Given the description of an element on the screen output the (x, y) to click on. 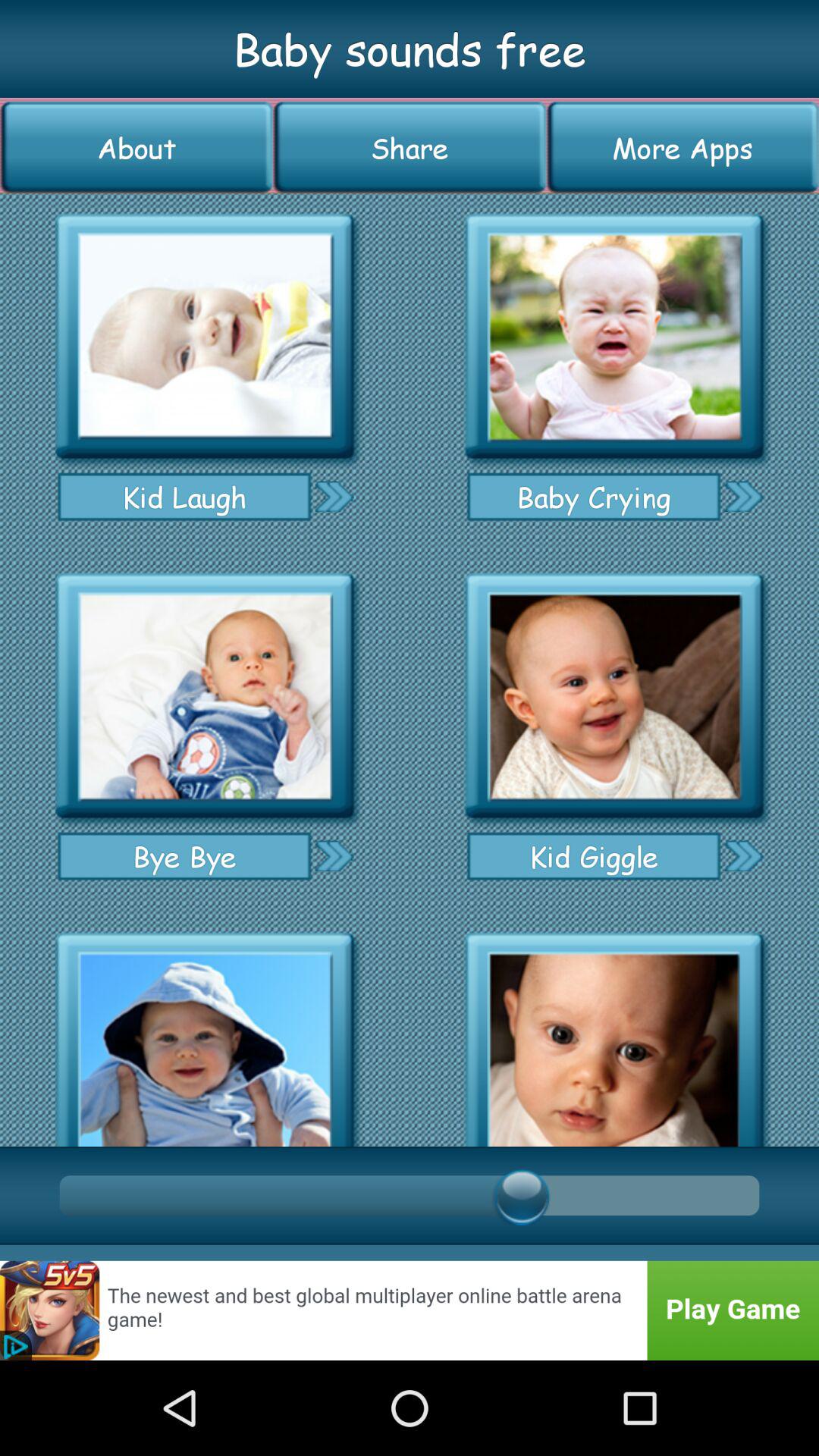
play baby sound (204, 1034)
